Given the description of an element on the screen output the (x, y) to click on. 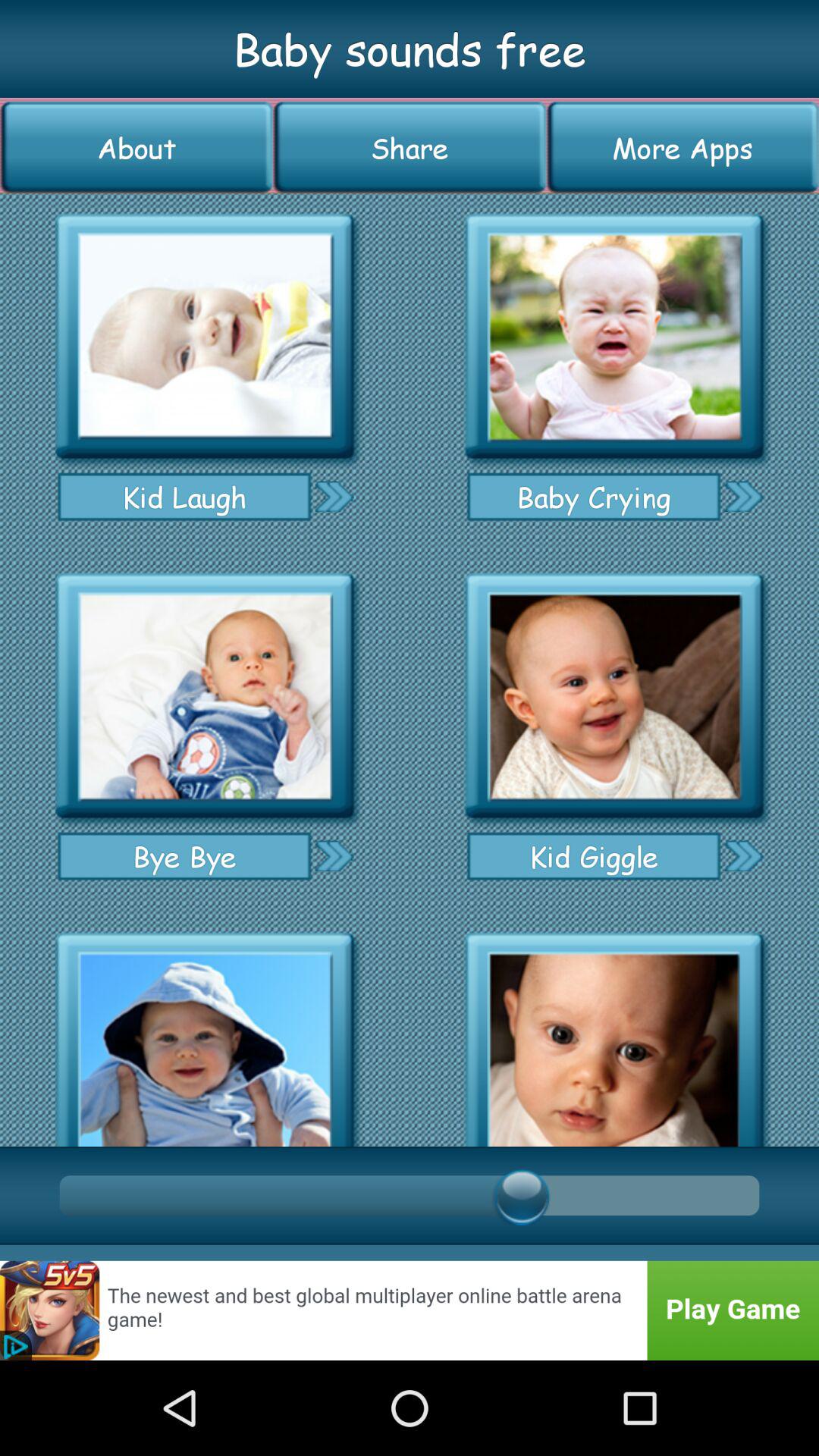
play baby sound (204, 1034)
